Given the description of an element on the screen output the (x, y) to click on. 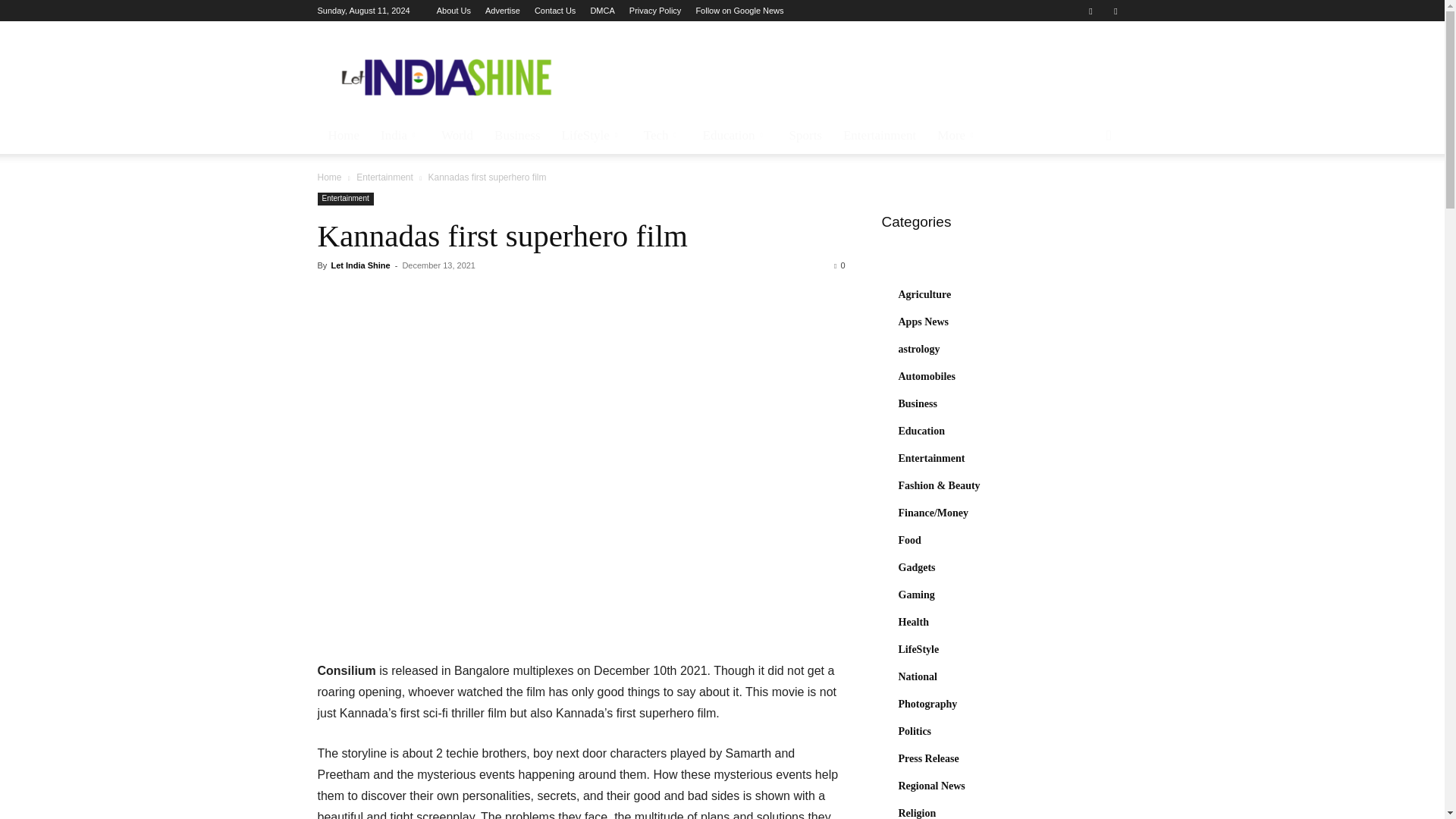
View all posts in Entertainment (384, 176)
Privacy Policy (654, 10)
Contact Us (554, 10)
Follow on Google News (739, 10)
DMCA (601, 10)
About Us (453, 10)
Facebook (1090, 10)
Twitter (1114, 10)
Advertise (501, 10)
